Given the description of an element on the screen output the (x, y) to click on. 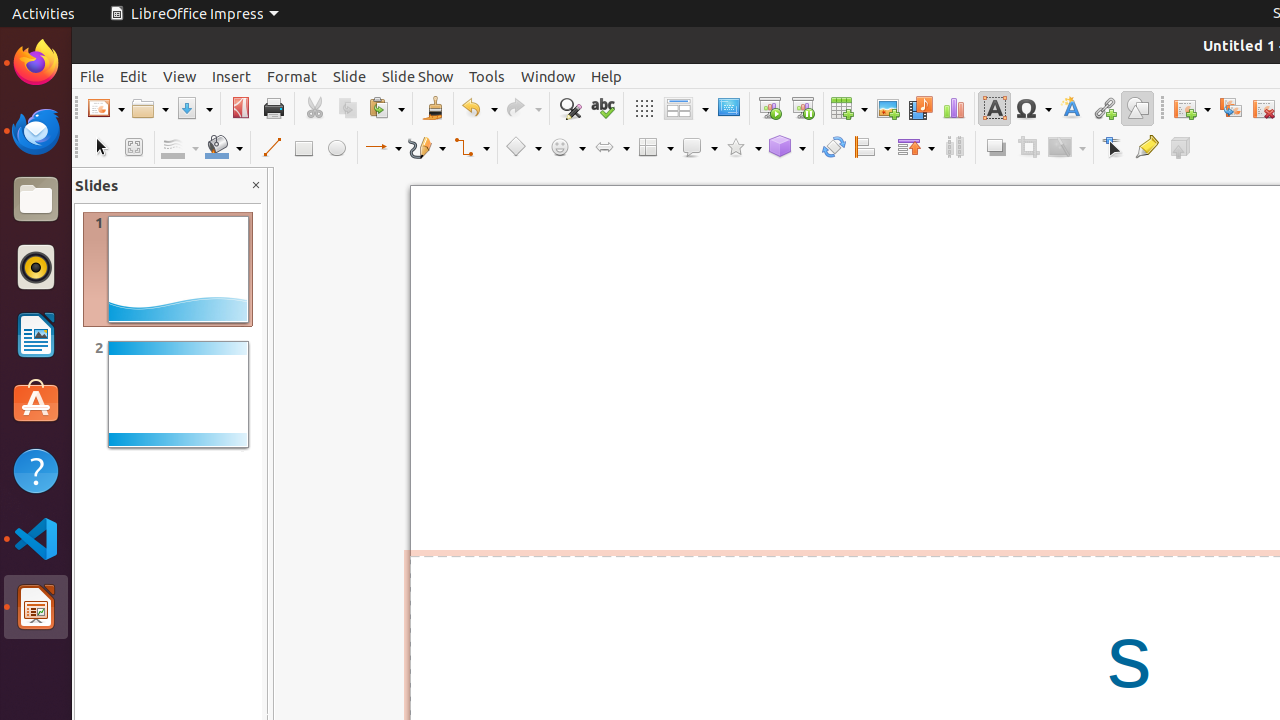
Draw Functions Element type: toggle-button (1137, 108)
Select Element type: push-button (100, 147)
Close Pane Element type: push-button (255, 185)
Ubuntu Software Element type: push-button (36, 402)
Rhythmbox Element type: push-button (36, 267)
